Given the description of an element on the screen output the (x, y) to click on. 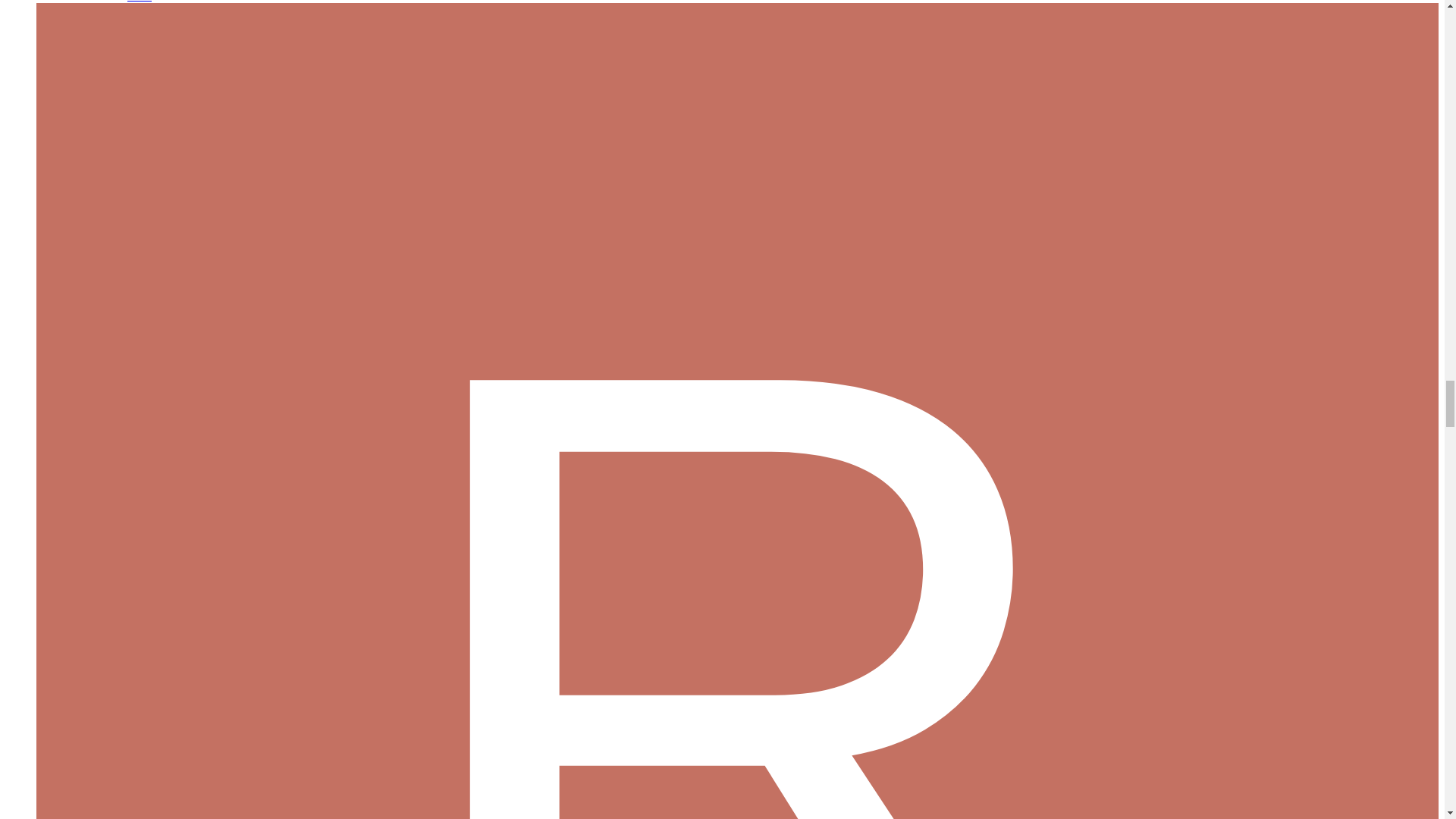
Find other content tagged with '1962' (139, 1)
